Given the description of an element on the screen output the (x, y) to click on. 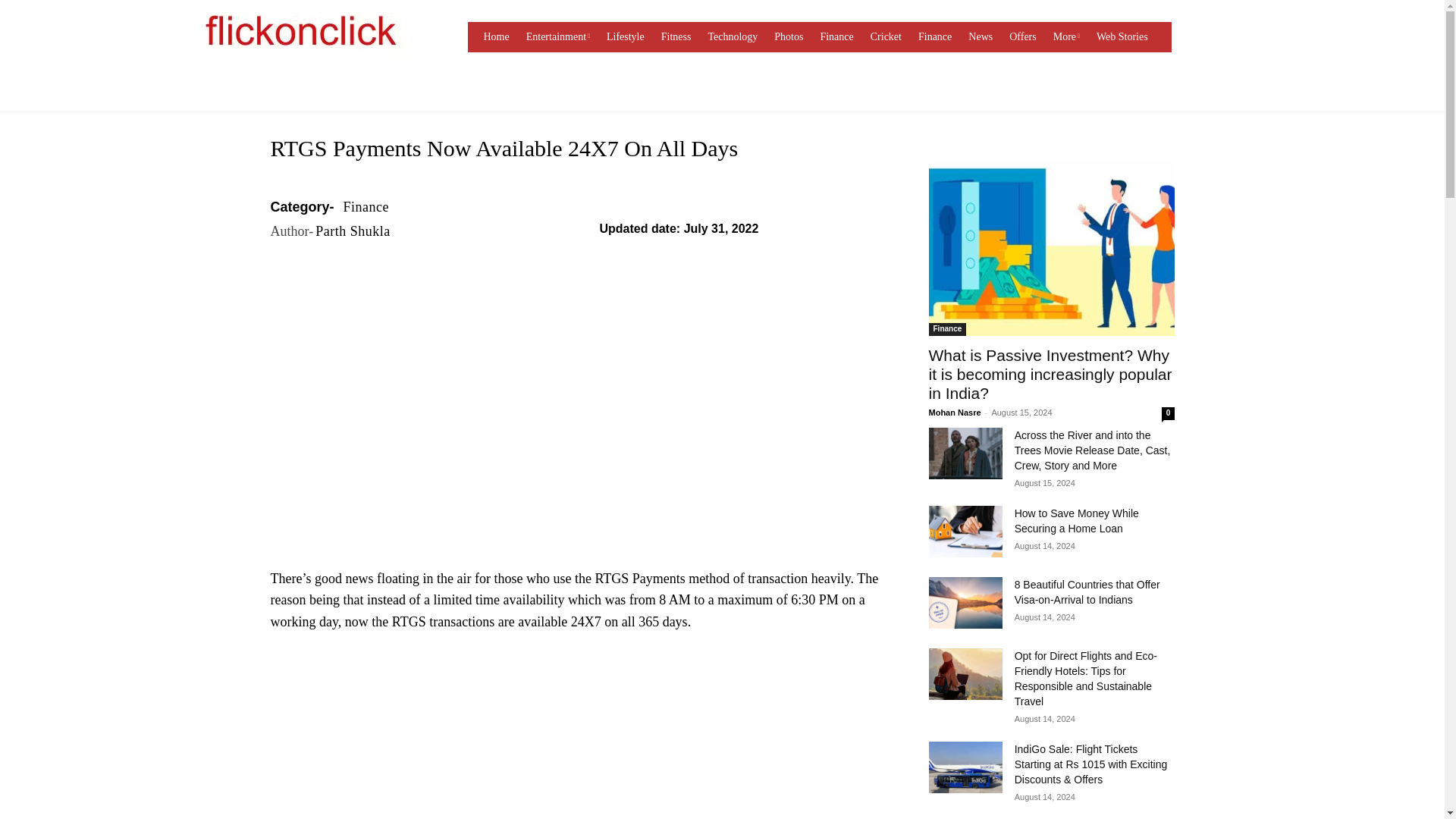
Home (496, 37)
Photos (789, 37)
Finance (935, 37)
Cricket (885, 37)
Technology (732, 37)
Advertisement (580, 455)
Lifestyle (625, 37)
Fitness (675, 37)
Entertainment (557, 37)
Finance (836, 37)
